Given the description of an element on the screen output the (x, y) to click on. 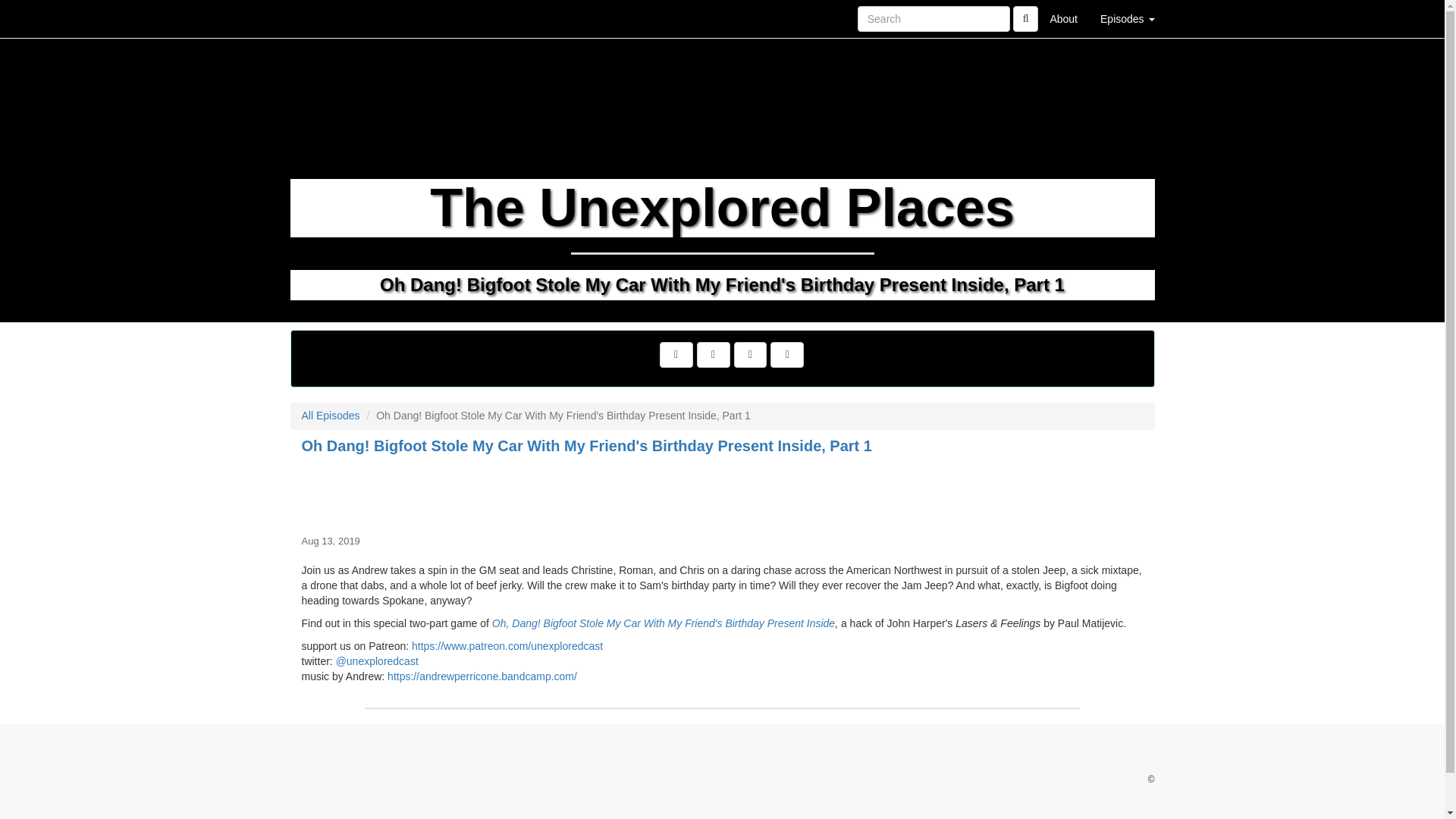
Episodes (1127, 18)
Home Page (320, 18)
About (1063, 18)
